Given the description of an element on the screen output the (x, y) to click on. 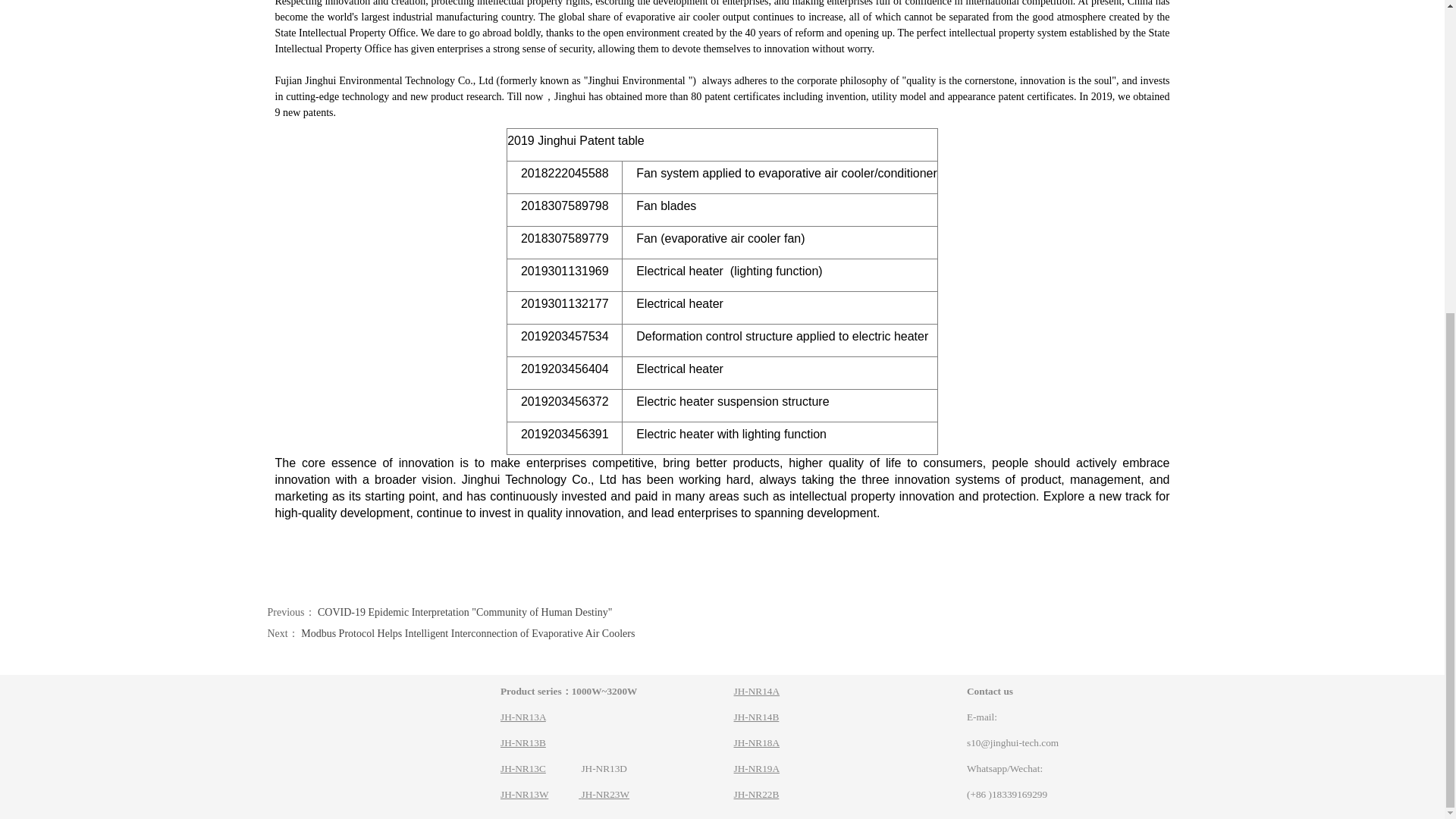
with remote (755, 716)
DIY - basic heating function (756, 690)
To replace Yuba (756, 767)
smail space heater (756, 742)
Tuya APP control - glass panel (755, 794)
